Given the description of an element on the screen output the (x, y) to click on. 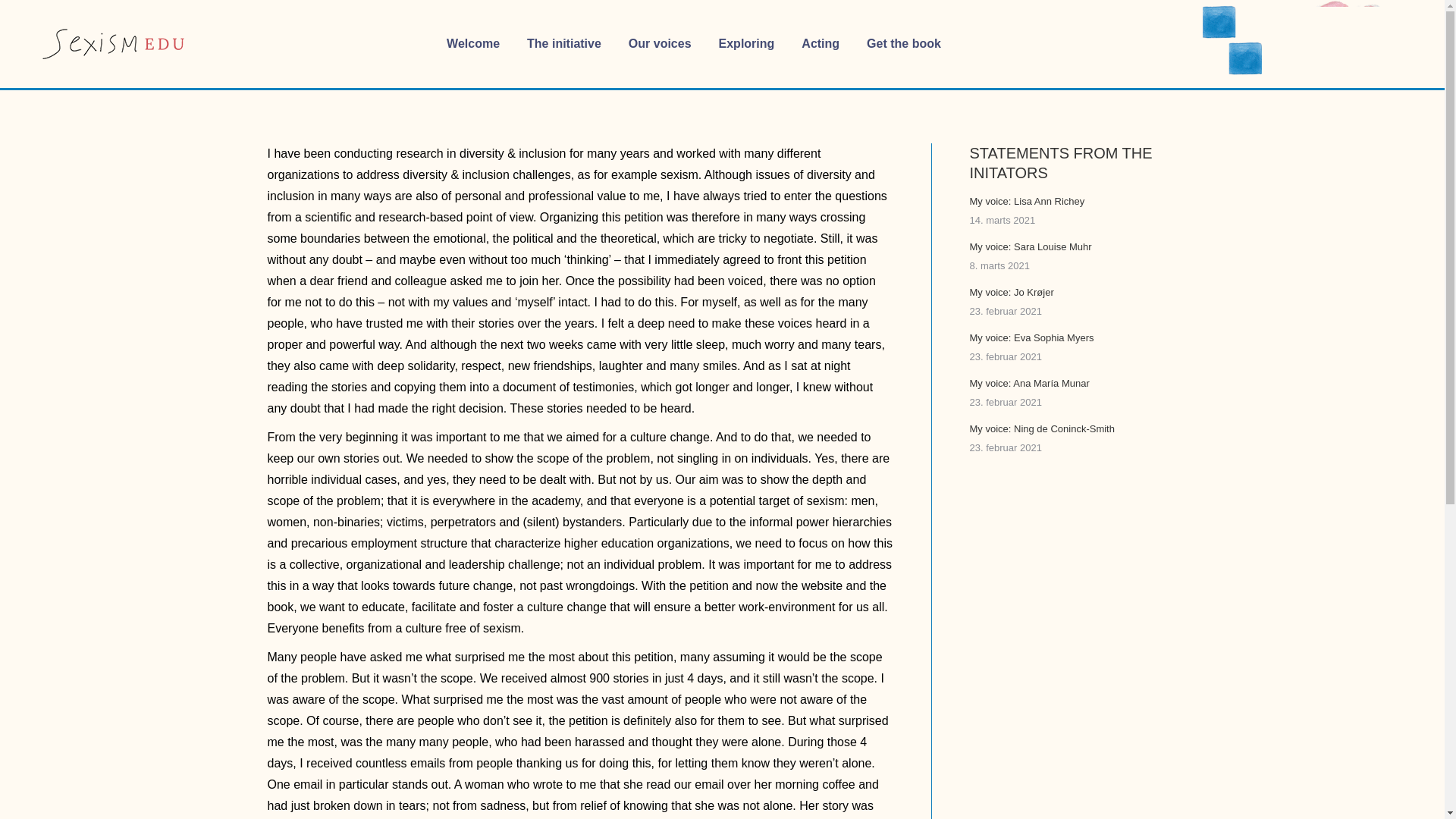
The initiative (564, 43)
Our voices (660, 43)
Get the book (903, 43)
Exploring (746, 43)
Welcome (473, 43)
